Given the description of an element on the screen output the (x, y) to click on. 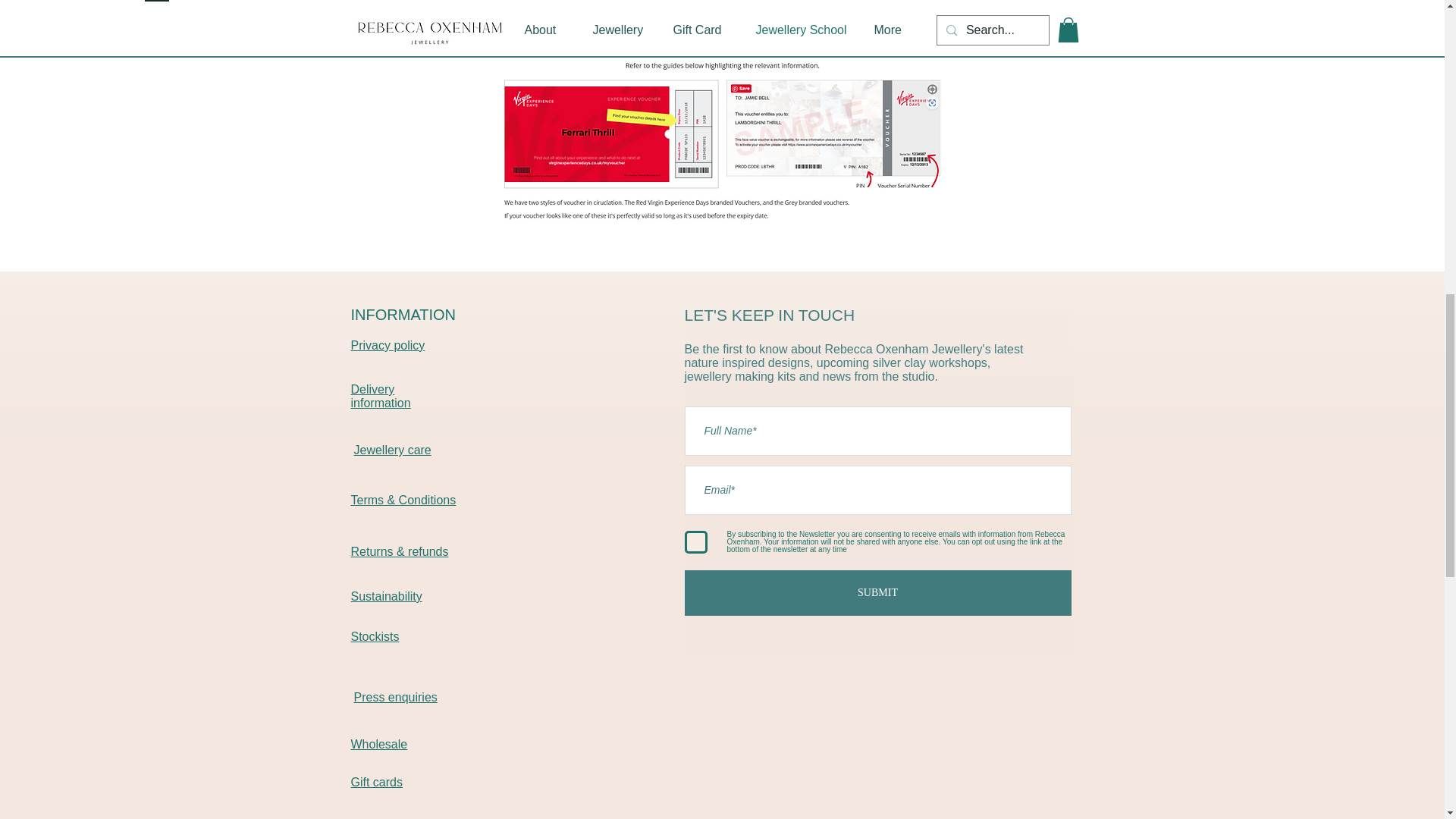
Delivery information (380, 396)
SUBMIT (877, 592)
Privacy policy (387, 345)
Jewellery care (391, 449)
Stockists (374, 635)
Sustainability (386, 595)
virgin experience voucher.PNG (722, 131)
Press enquiries (394, 697)
